Given the description of an element on the screen output the (x, y) to click on. 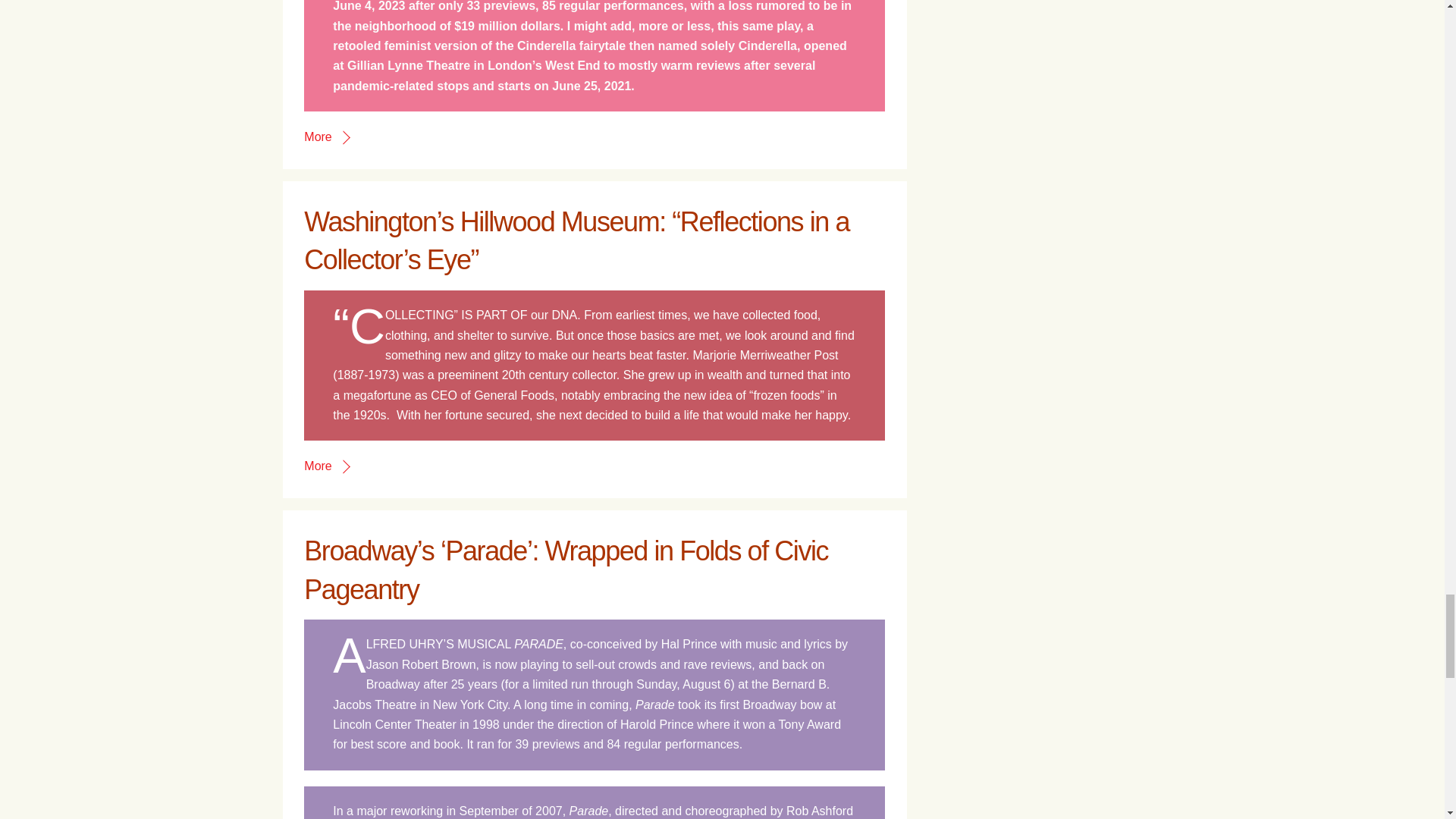
More (325, 136)
More (325, 465)
